Given the description of an element on the screen output the (x, y) to click on. 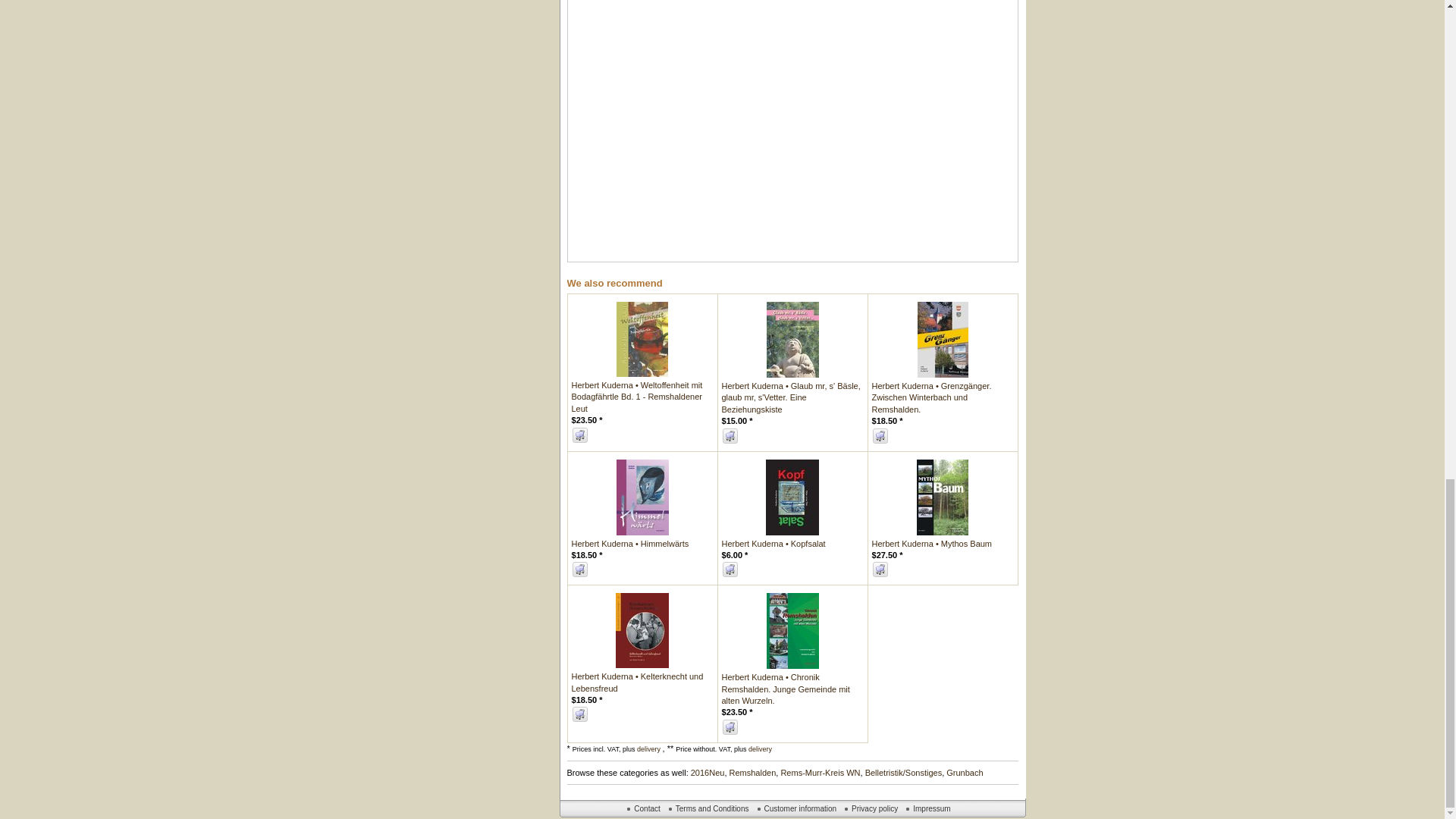
Go to product (637, 396)
Add to basket (729, 435)
Go to product (942, 338)
Go to product (791, 397)
Go to product (791, 338)
Go to product (641, 338)
Add to basket (579, 435)
